Given the description of an element on the screen output the (x, y) to click on. 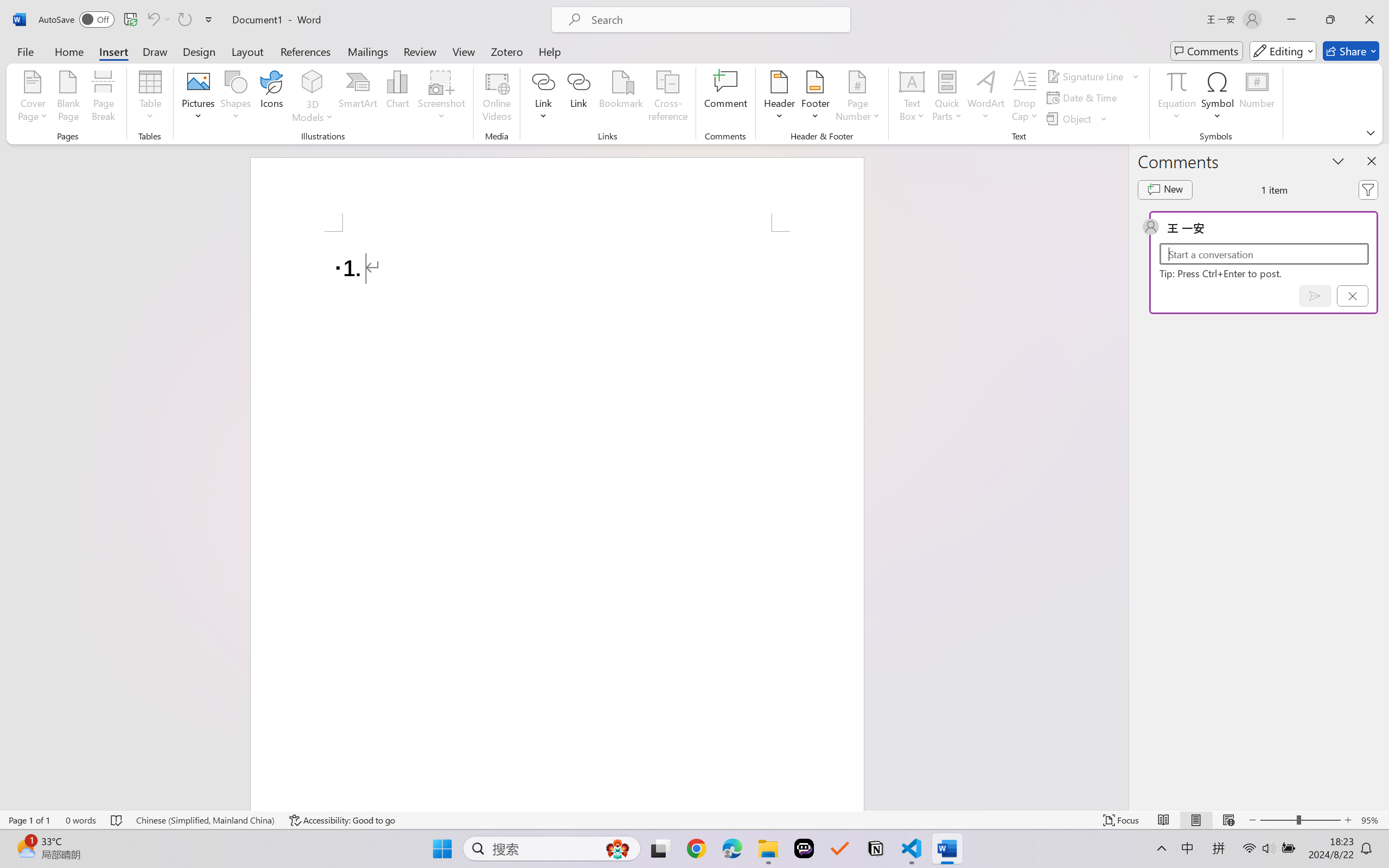
Number... (1256, 97)
Filter (1367, 189)
Start a conversation (1263, 254)
Symbol (1218, 97)
Comment (725, 97)
Table (149, 97)
Undo Number Default (158, 19)
